Given the description of an element on the screen output the (x, y) to click on. 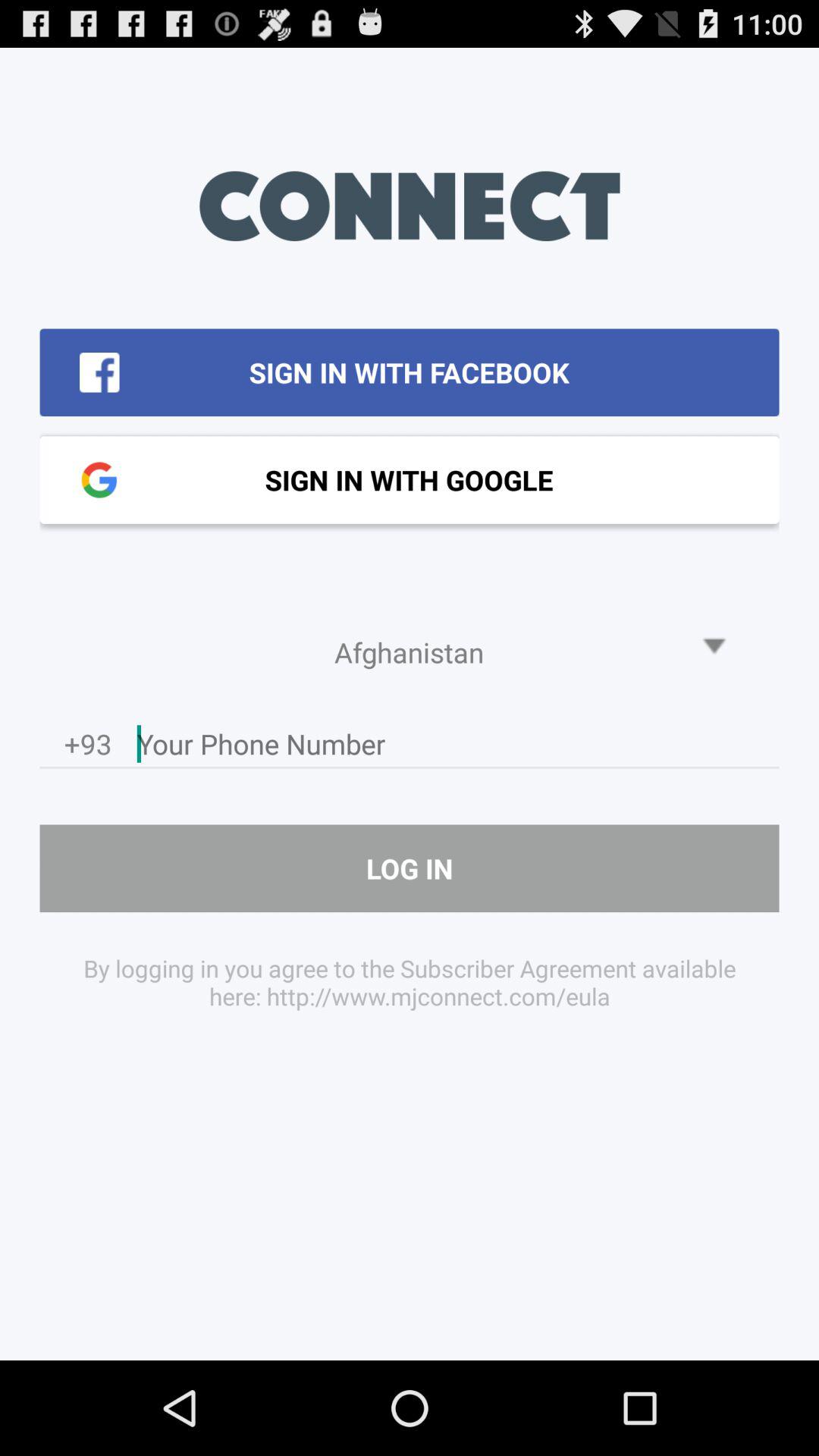
your phone number (458, 747)
